Given the description of an element on the screen output the (x, y) to click on. 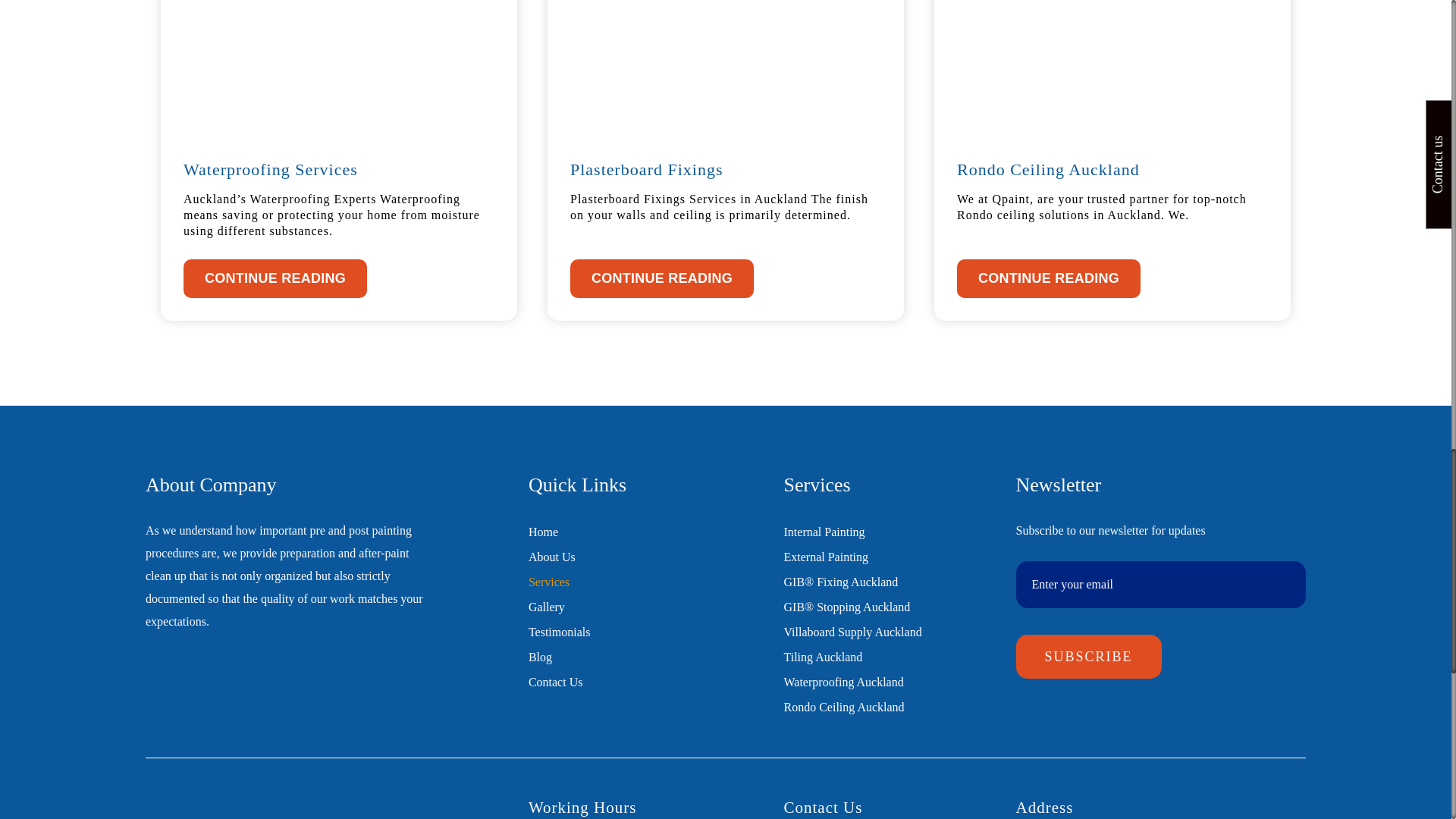
Subscribe (1088, 656)
